Given the description of an element on the screen output the (x, y) to click on. 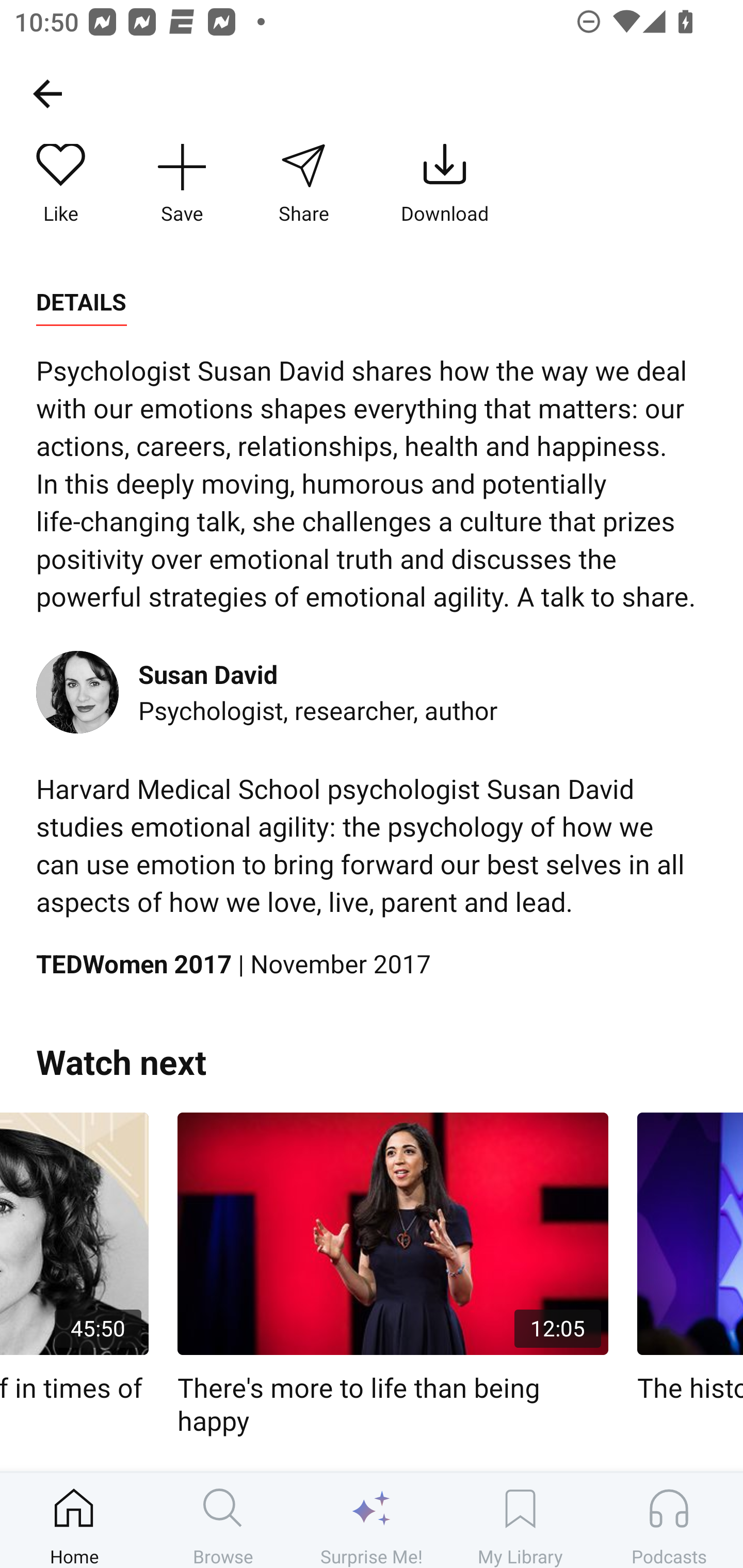
Home, back (47, 92)
Like (60, 184)
Save (181, 184)
Share (302, 184)
Download (444, 184)
DETAILS (80, 302)
12:05 There's more to life than being happy (392, 1275)
Home (74, 1520)
Browse (222, 1520)
Surprise Me! (371, 1520)
My Library (519, 1520)
Podcasts (668, 1520)
